Given the description of an element on the screen output the (x, y) to click on. 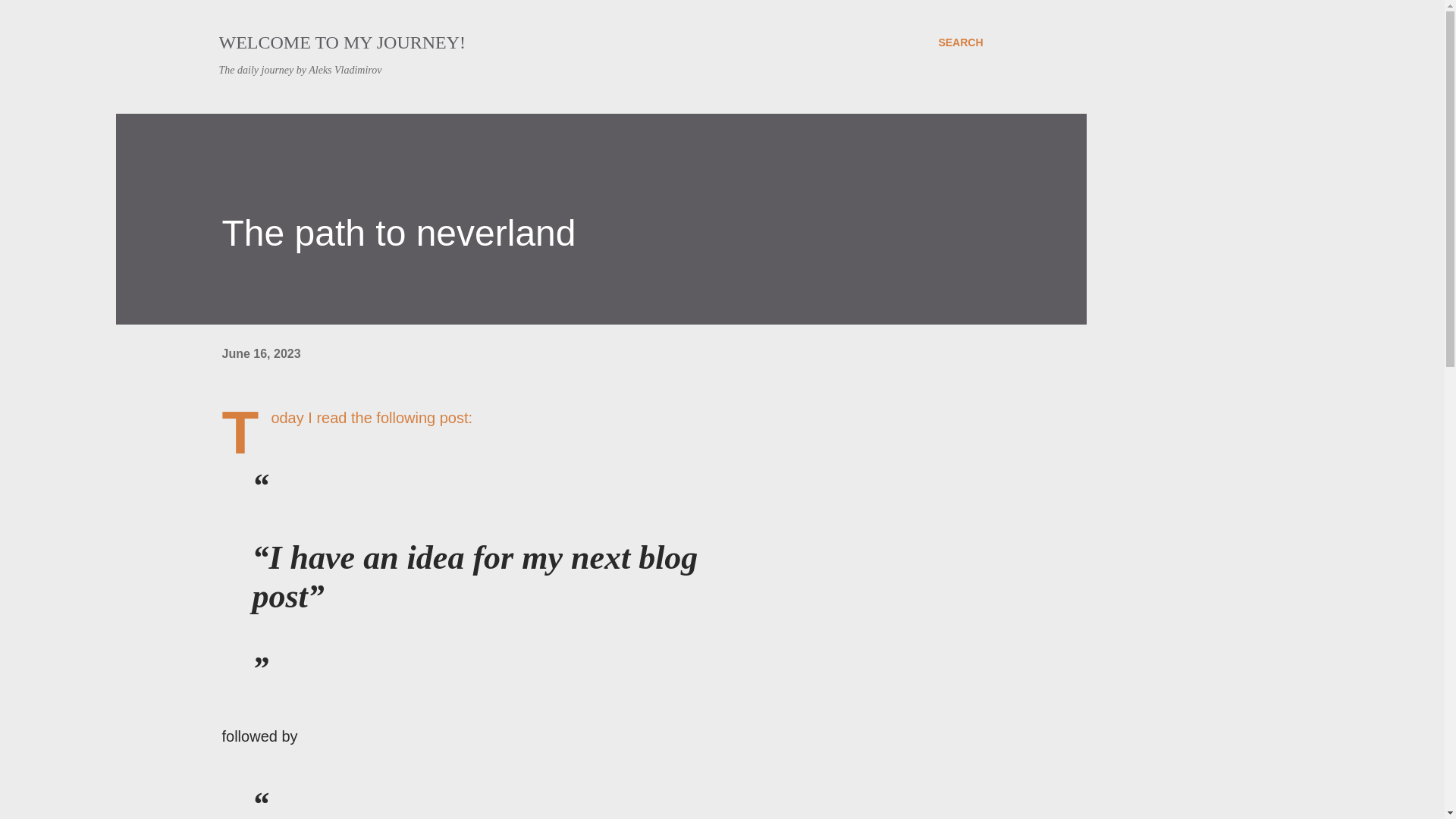
SEARCH (959, 42)
permanent link (260, 353)
WELCOME TO MY JOURNEY! (341, 42)
June 16, 2023 (260, 353)
